Given the description of an element on the screen output the (x, y) to click on. 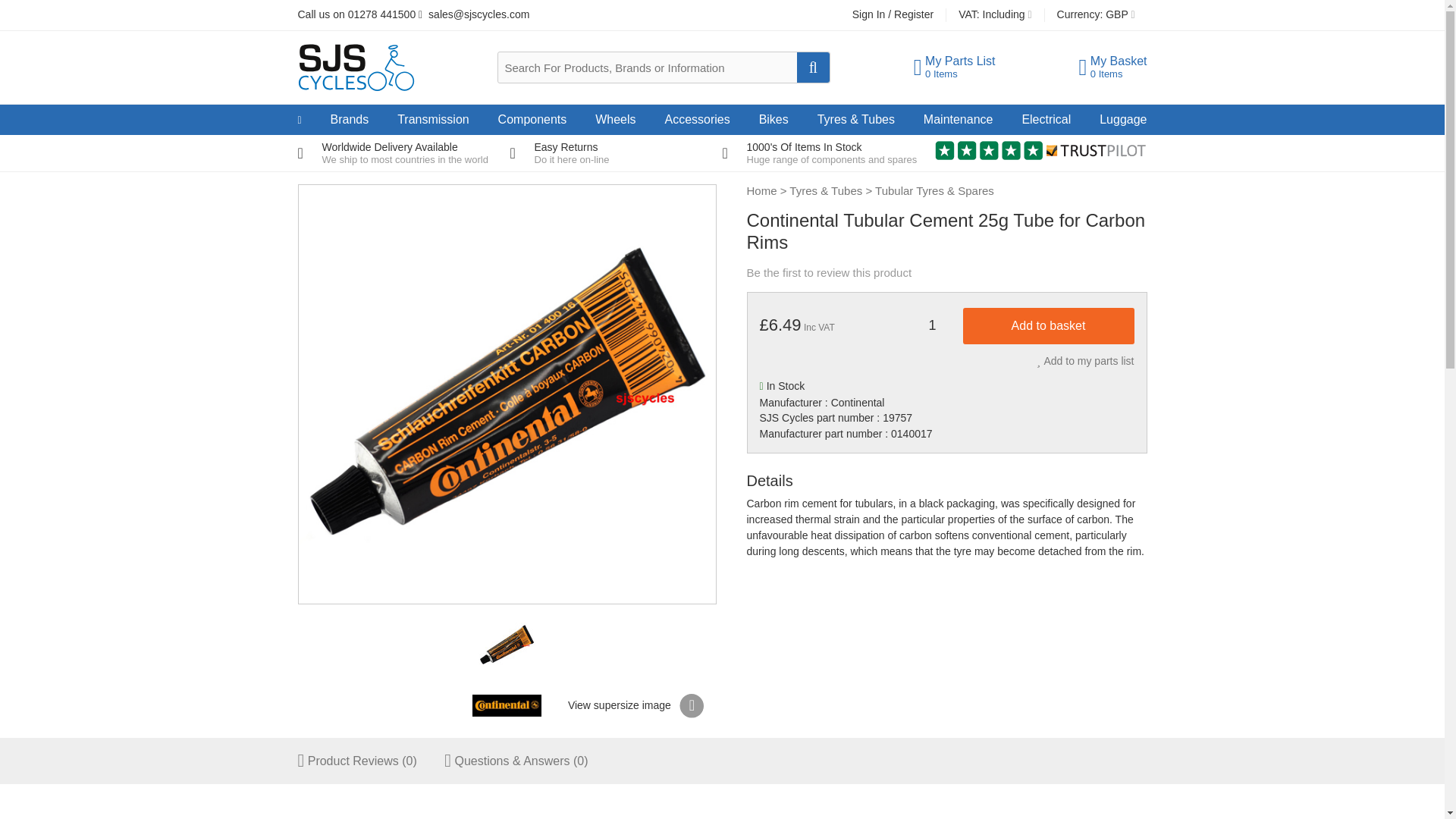
This opens up in a new window (403, 152)
This opens up in a new window (615, 152)
1 (828, 152)
View supersize image   (828, 152)
Add to basket (932, 325)
Home (635, 704)
01278 441500 (1112, 70)
Be the first to review this product (954, 70)
